Given the description of an element on the screen output the (x, y) to click on. 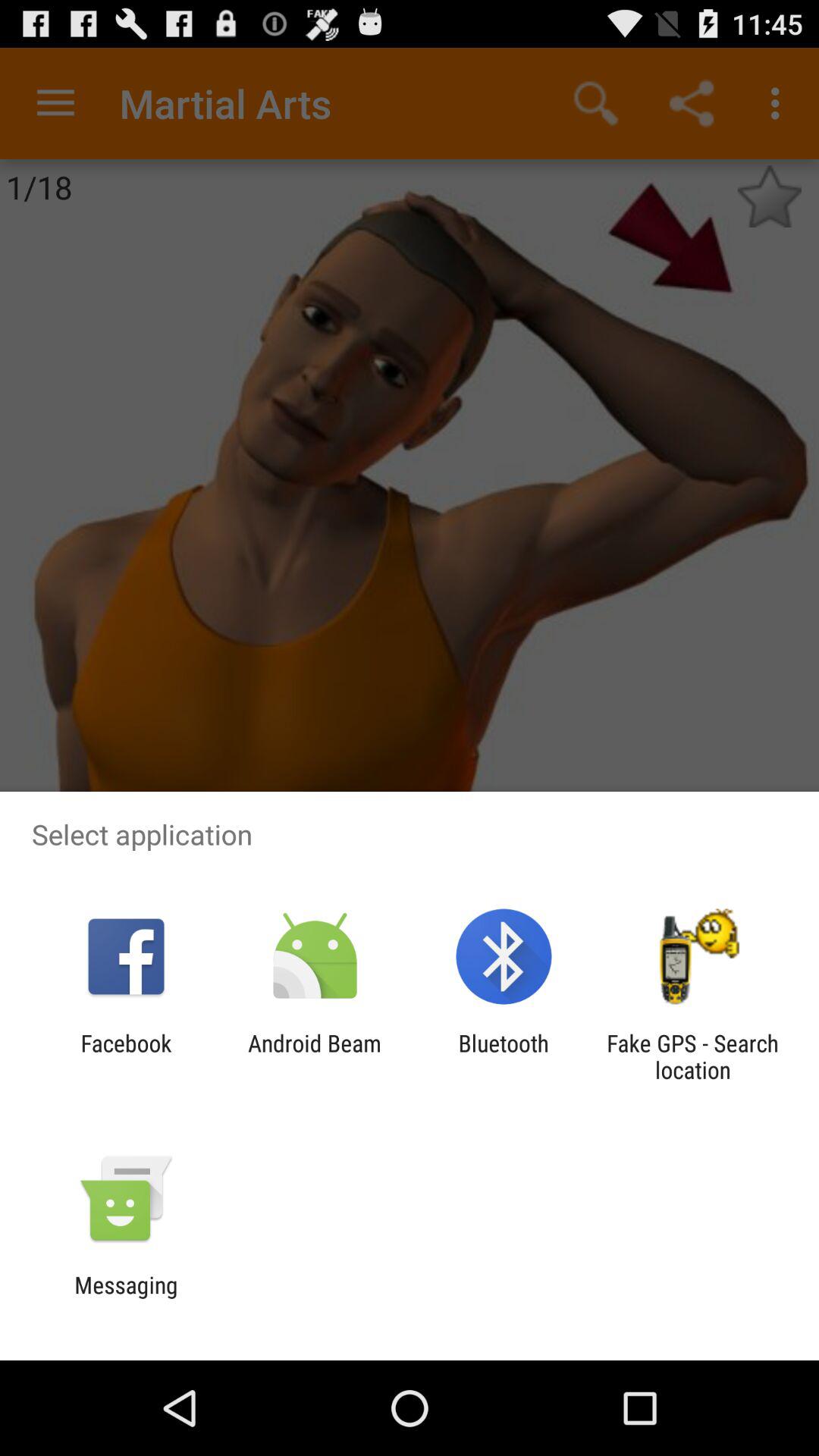
tap app to the right of the bluetooth (692, 1056)
